Given the description of an element on the screen output the (x, y) to click on. 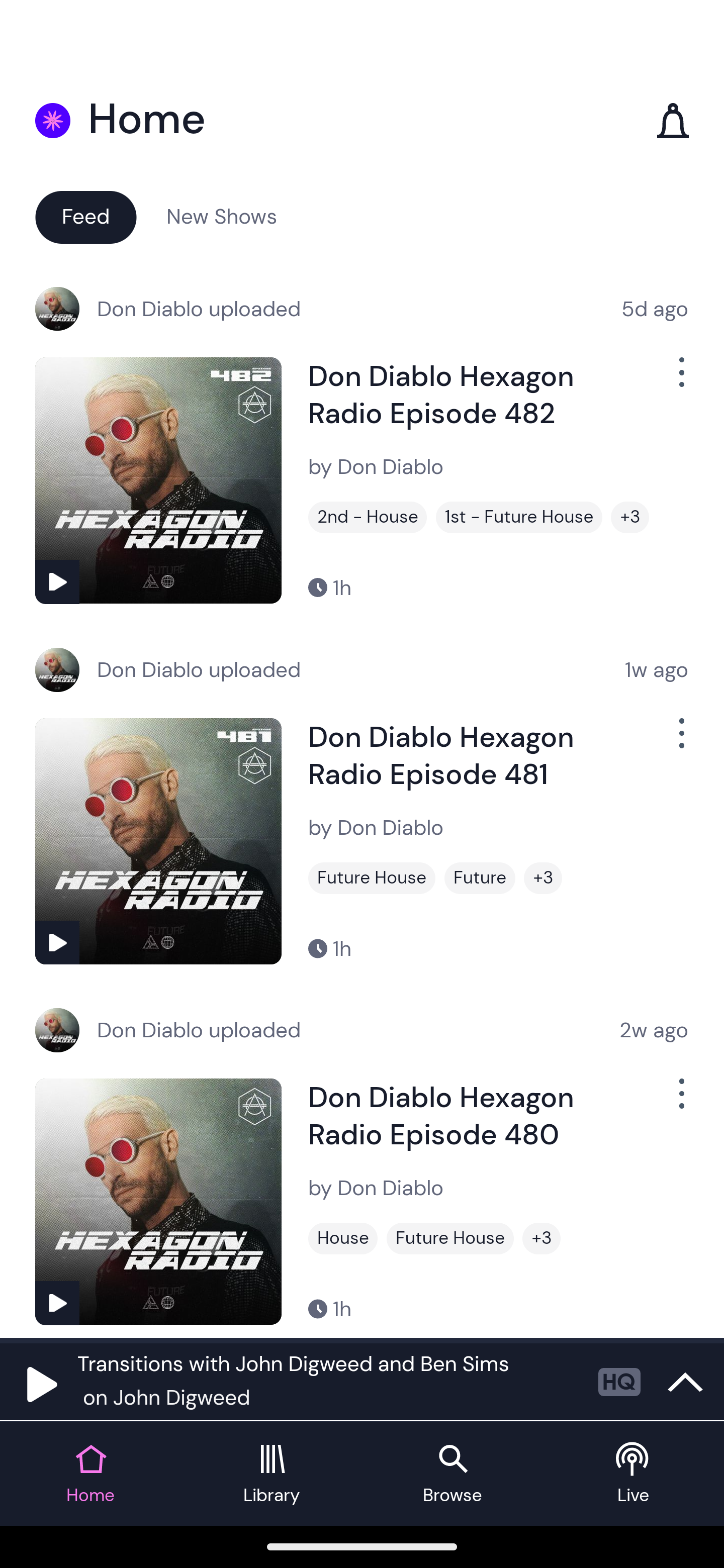
Feed (85, 216)
New Shows (221, 216)
Show Options Menu Button (679, 379)
2nd - House (367, 517)
1st - Future House (518, 517)
Show Options Menu Button (679, 740)
Future House (371, 877)
Future (479, 877)
Show Options Menu Button (679, 1101)
House (342, 1238)
Future House (450, 1238)
Home tab Home (90, 1473)
Library tab Library (271, 1473)
Browse tab Browse (452, 1473)
Live tab Live (633, 1473)
